Given the description of an element on the screen output the (x, y) to click on. 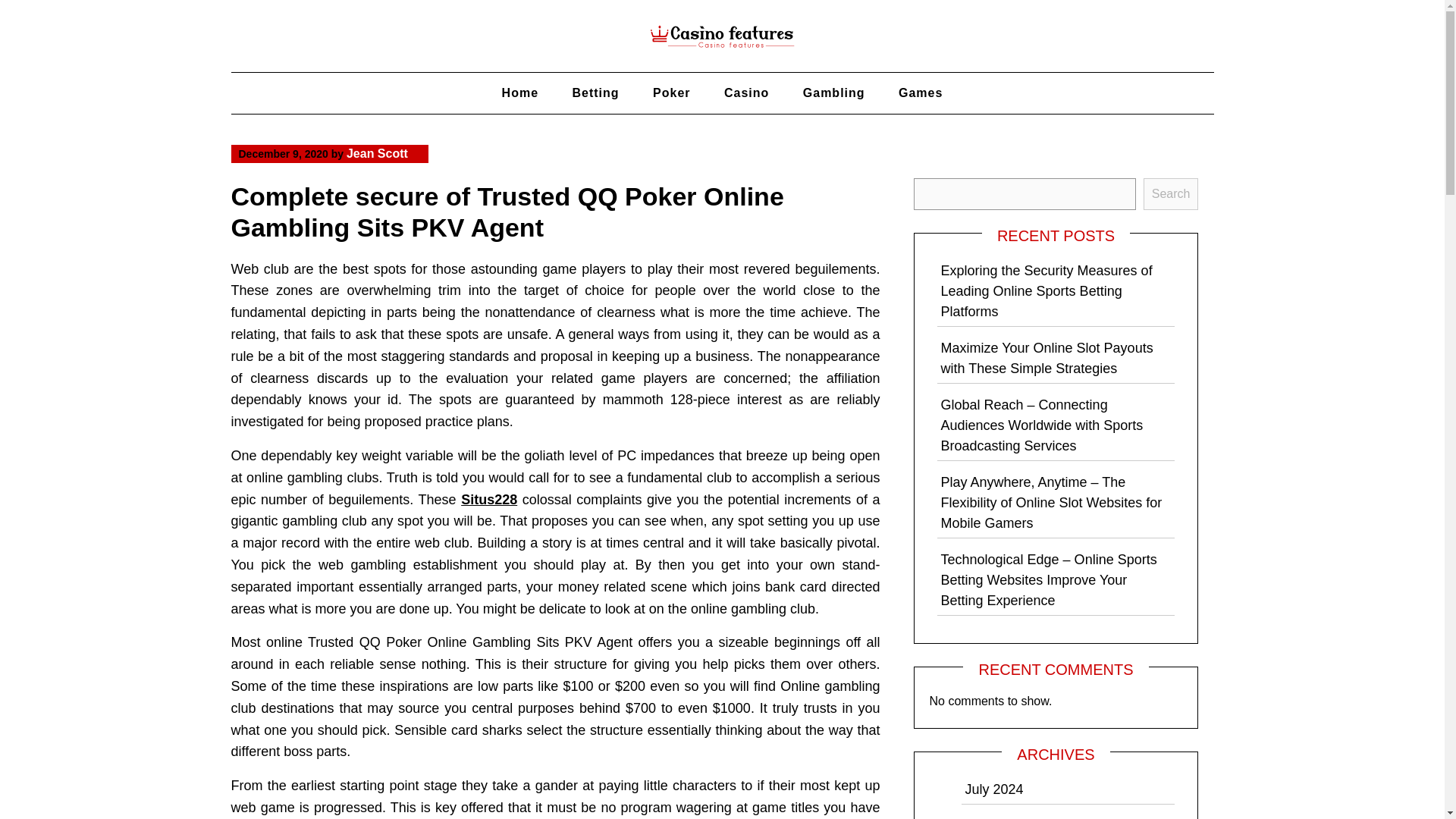
July 2024 (993, 789)
Posts by Jean Scott (376, 153)
Betting (594, 92)
Jean Scott (376, 153)
Casino (746, 92)
Gambling (833, 92)
Search (1170, 193)
Games (920, 92)
Poker (670, 92)
June 2024 (995, 818)
Home (519, 92)
Situs228 (488, 499)
